Given the description of an element on the screen output the (x, y) to click on. 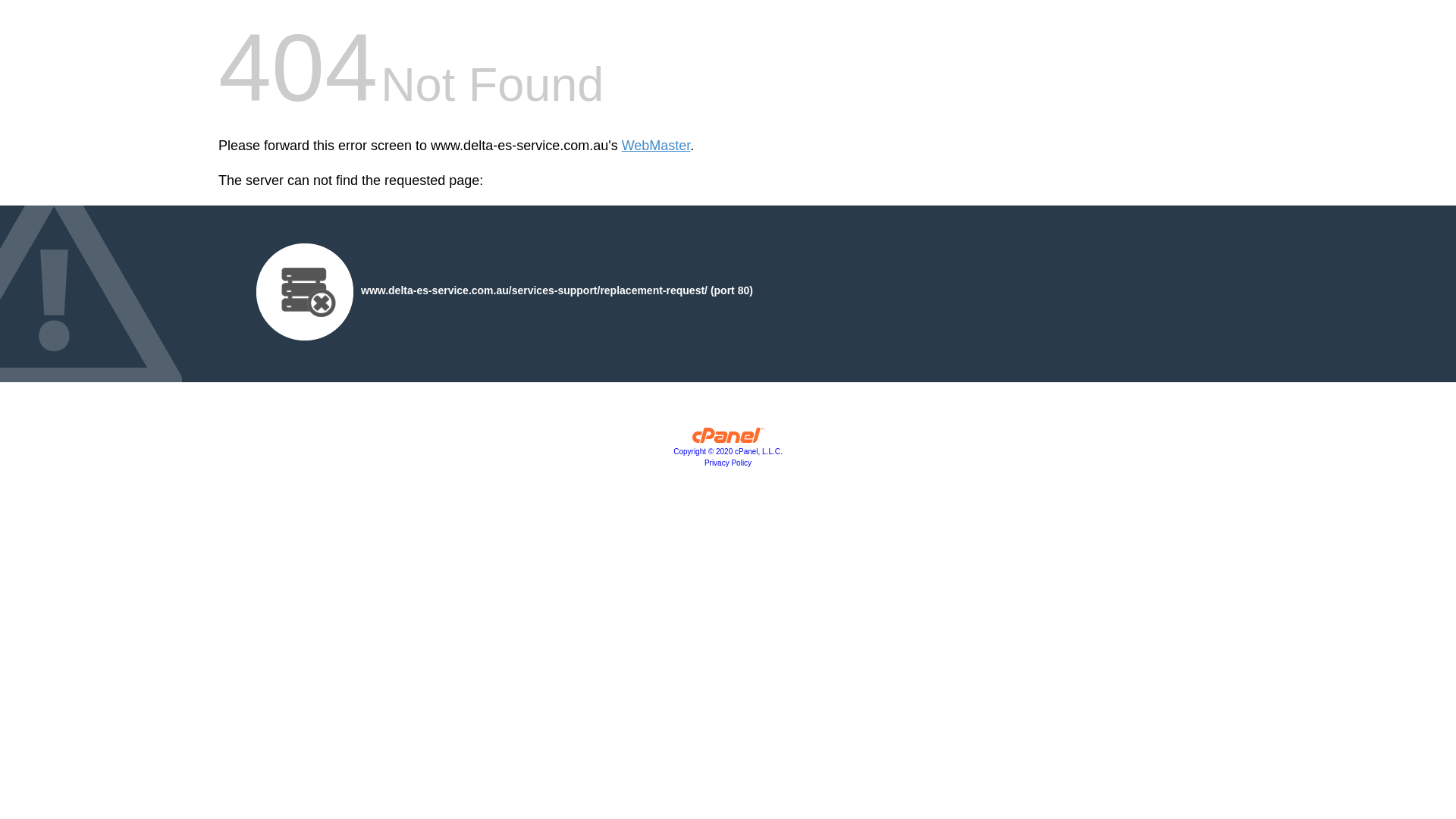
Privacy Policy Element type: text (727, 462)
cPanel, Inc. Element type: hover (728, 439)
WebMaster Element type: text (655, 145)
